Given the description of an element on the screen output the (x, y) to click on. 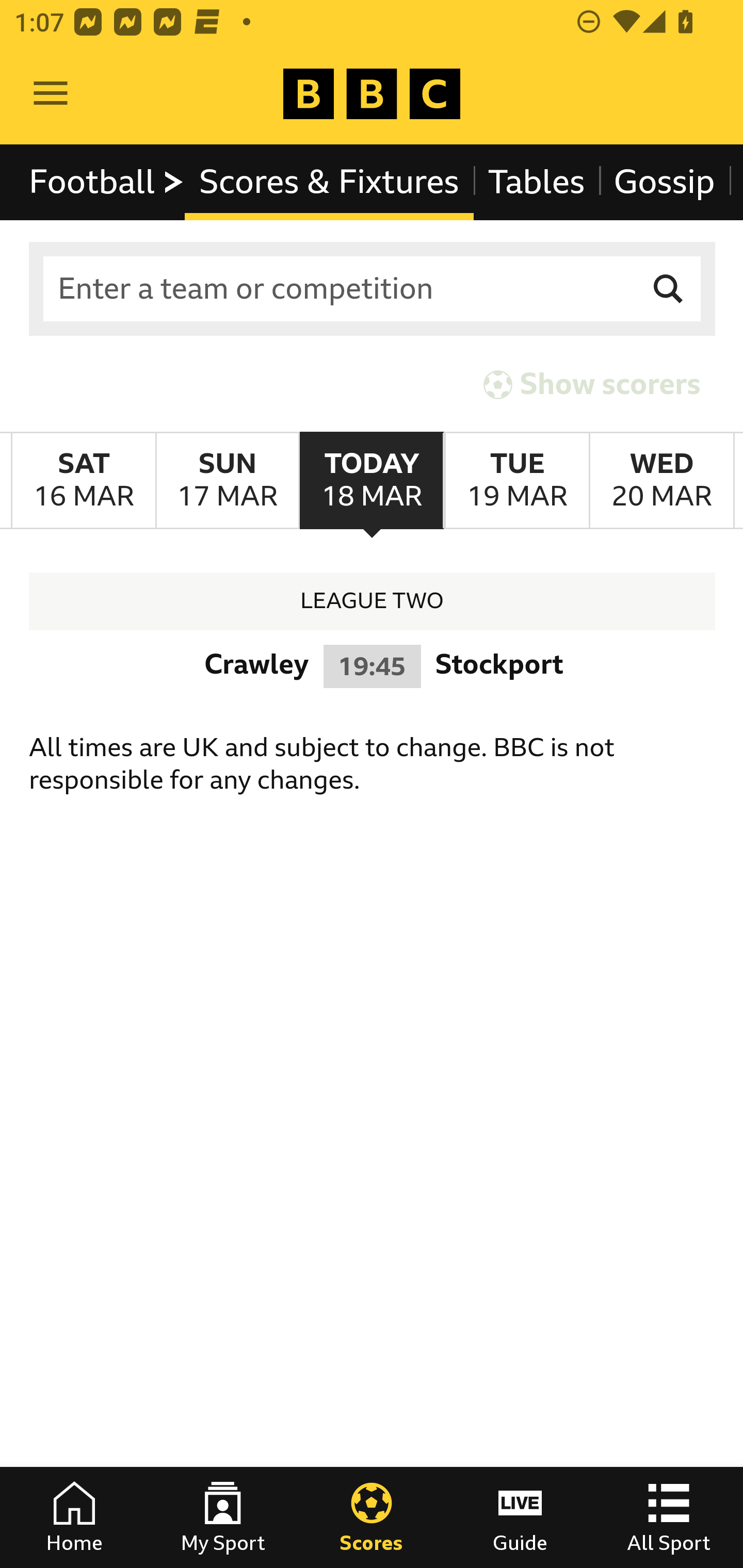
Open Menu (50, 93)
Football  (106, 181)
Scores & Fixtures (329, 181)
Tables (536, 181)
Gossip (664, 181)
Search (669, 289)
Show scorers (591, 383)
SaturdayMarch 16th Saturday March 16th (83, 480)
SundayMarch 17th Sunday March 17th (227, 480)
TuesdayMarch 19th Tuesday March 19th (516, 480)
WednesdayMarch 20th Wednesday March 20th (661, 480)
Home (74, 1517)
My Sport (222, 1517)
Guide (519, 1517)
All Sport (668, 1517)
